Given the description of an element on the screen output the (x, y) to click on. 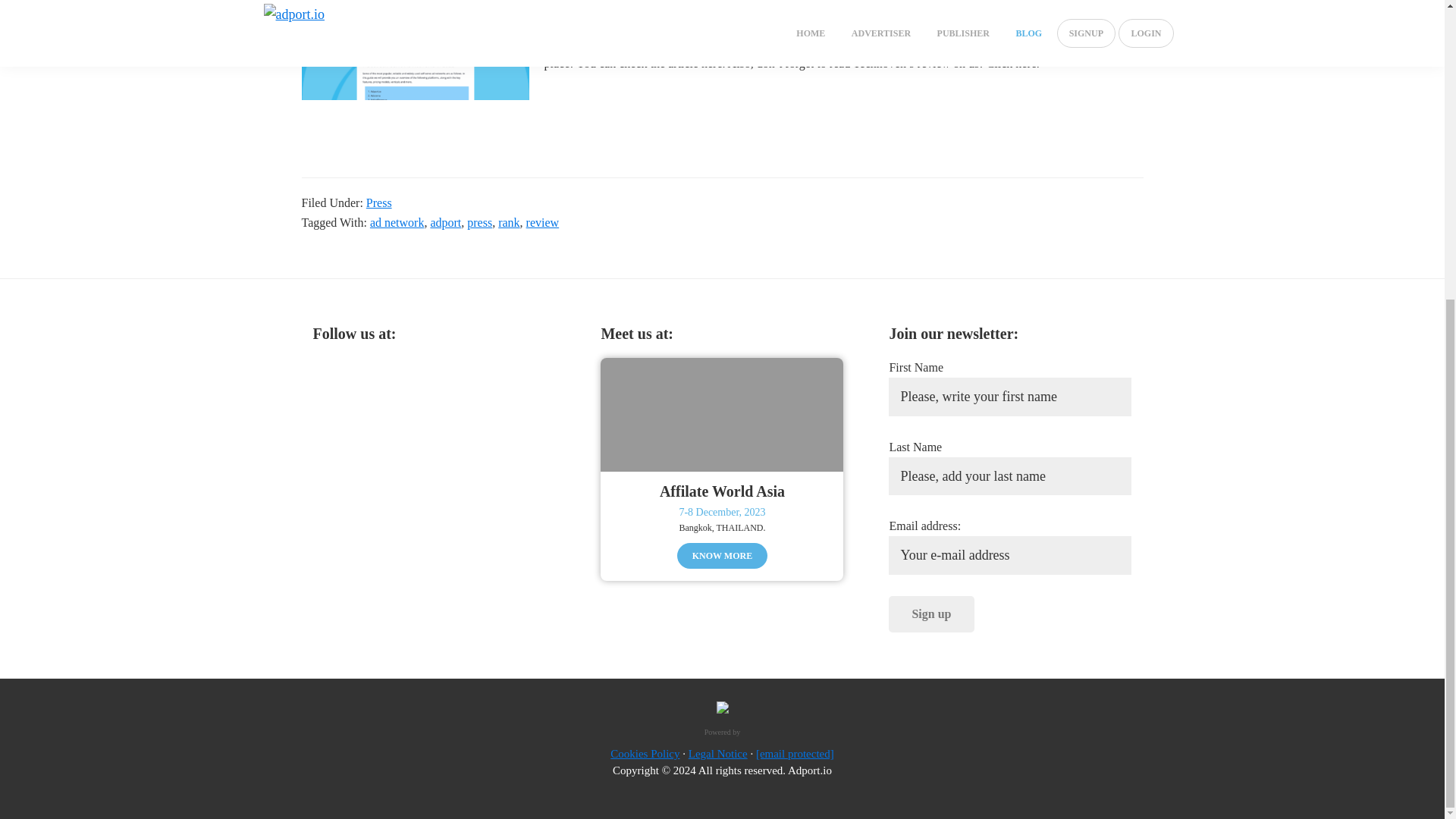
Sign up (931, 614)
Cookies Policy (644, 753)
review (542, 222)
ad network (397, 222)
KNOW MORE (722, 555)
Adport (441, 8)
press (479, 222)
Press (378, 202)
adport (445, 222)
rank (508, 222)
